Given the description of an element on the screen output the (x, y) to click on. 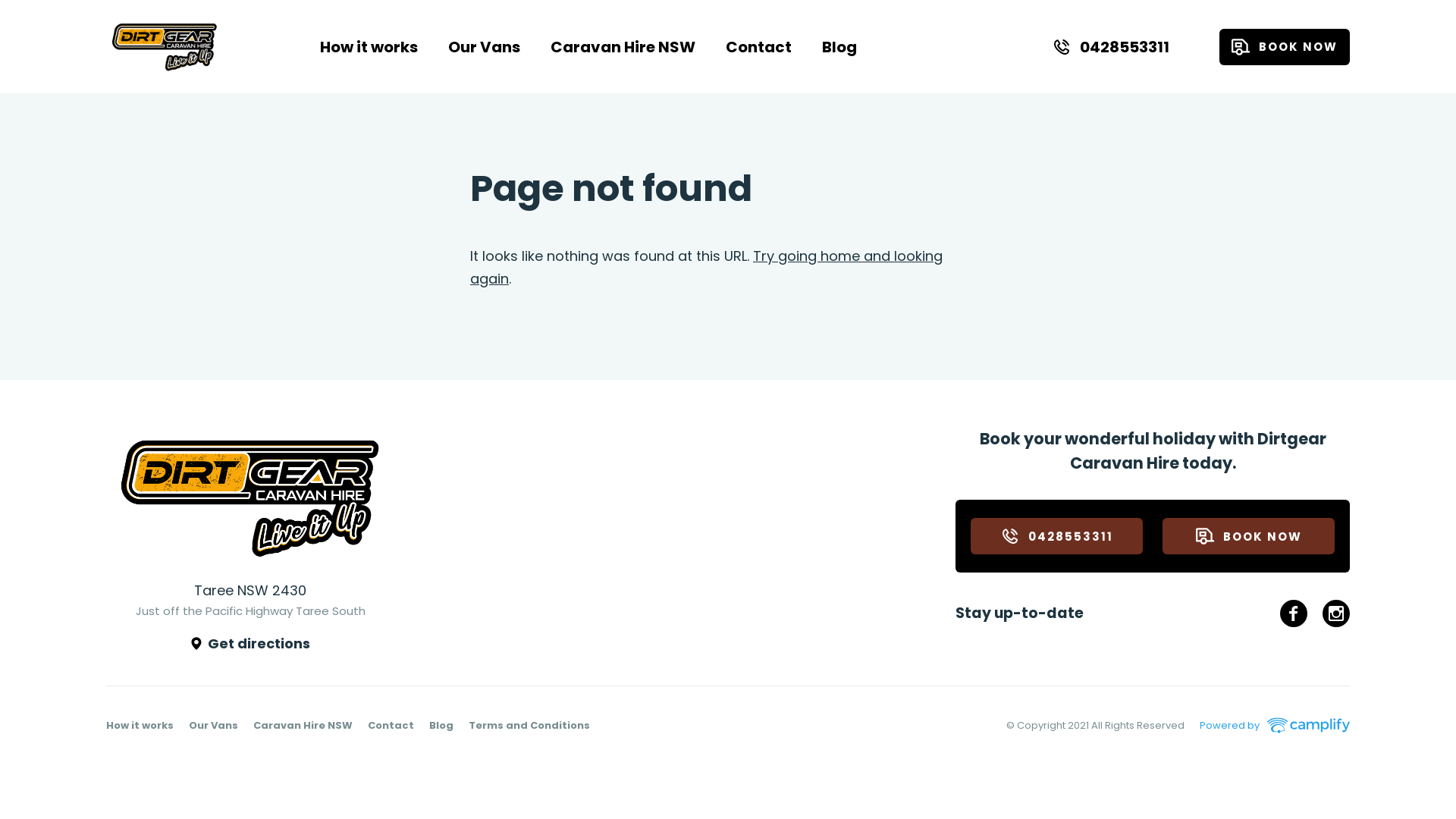
0428553311 Element type: text (1056, 535)
Caravan Hire NSW Element type: text (622, 46)
Terms and Conditions Element type: text (528, 725)
Our Vans Element type: text (484, 46)
Caravan Hire NSW Element type: text (302, 725)
BOOK NOW Element type: text (1248, 535)
Try going home and looking again Element type: text (706, 267)
0428553311 Element type: text (1110, 46)
How it works Element type: text (139, 725)
Blog Element type: text (839, 46)
Contact Element type: text (758, 46)
Contact Element type: text (390, 725)
Get directions Element type: text (250, 643)
BOOK NOW Element type: text (1284, 46)
Our Vans Element type: text (213, 725)
How it works Element type: text (368, 46)
Blog Element type: text (441, 725)
Powered by
Camplify Element type: text (1274, 725)
